Given the description of an element on the screen output the (x, y) to click on. 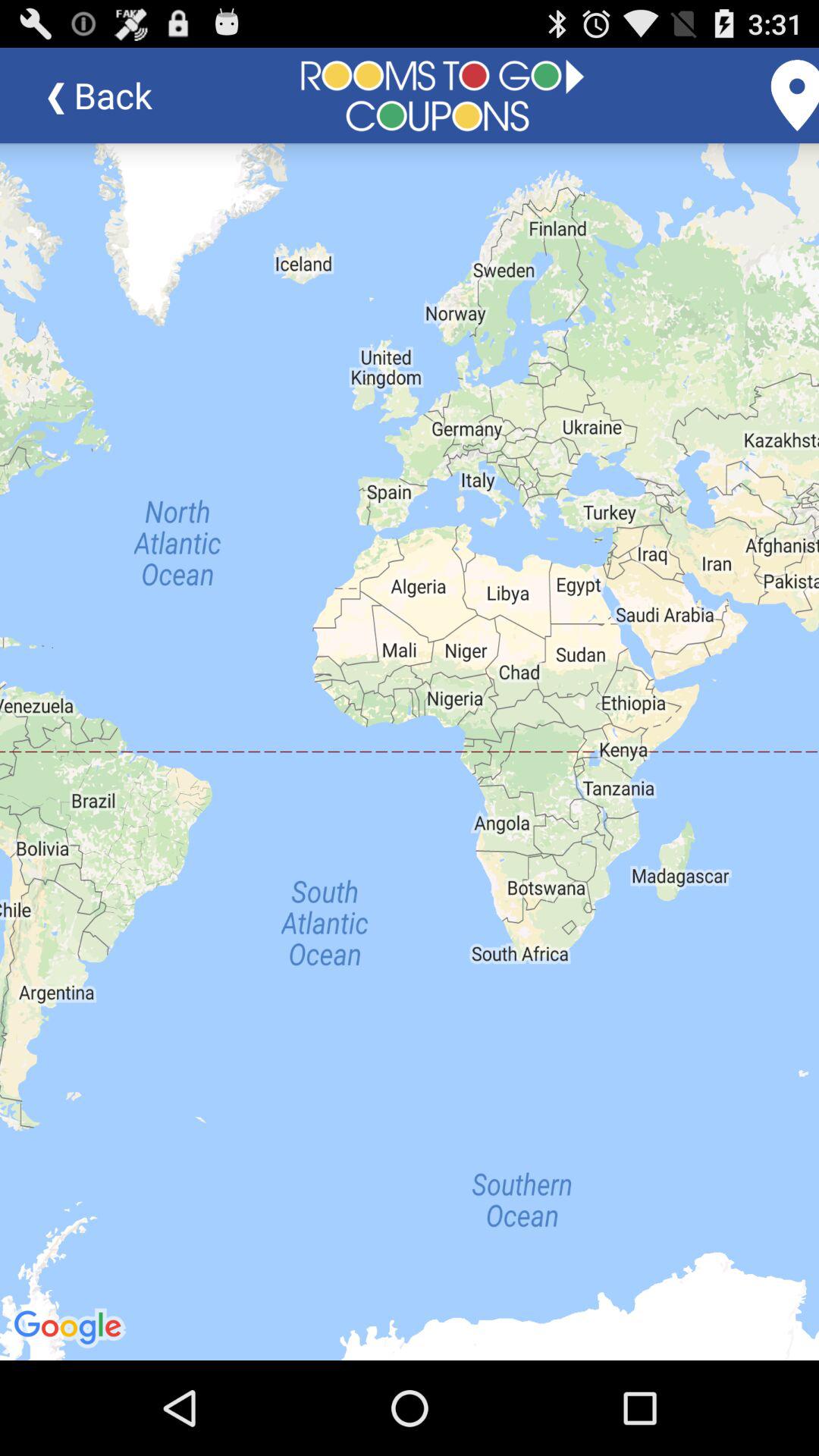
click the button at the top left corner (110, 95)
